Given the description of an element on the screen output the (x, y) to click on. 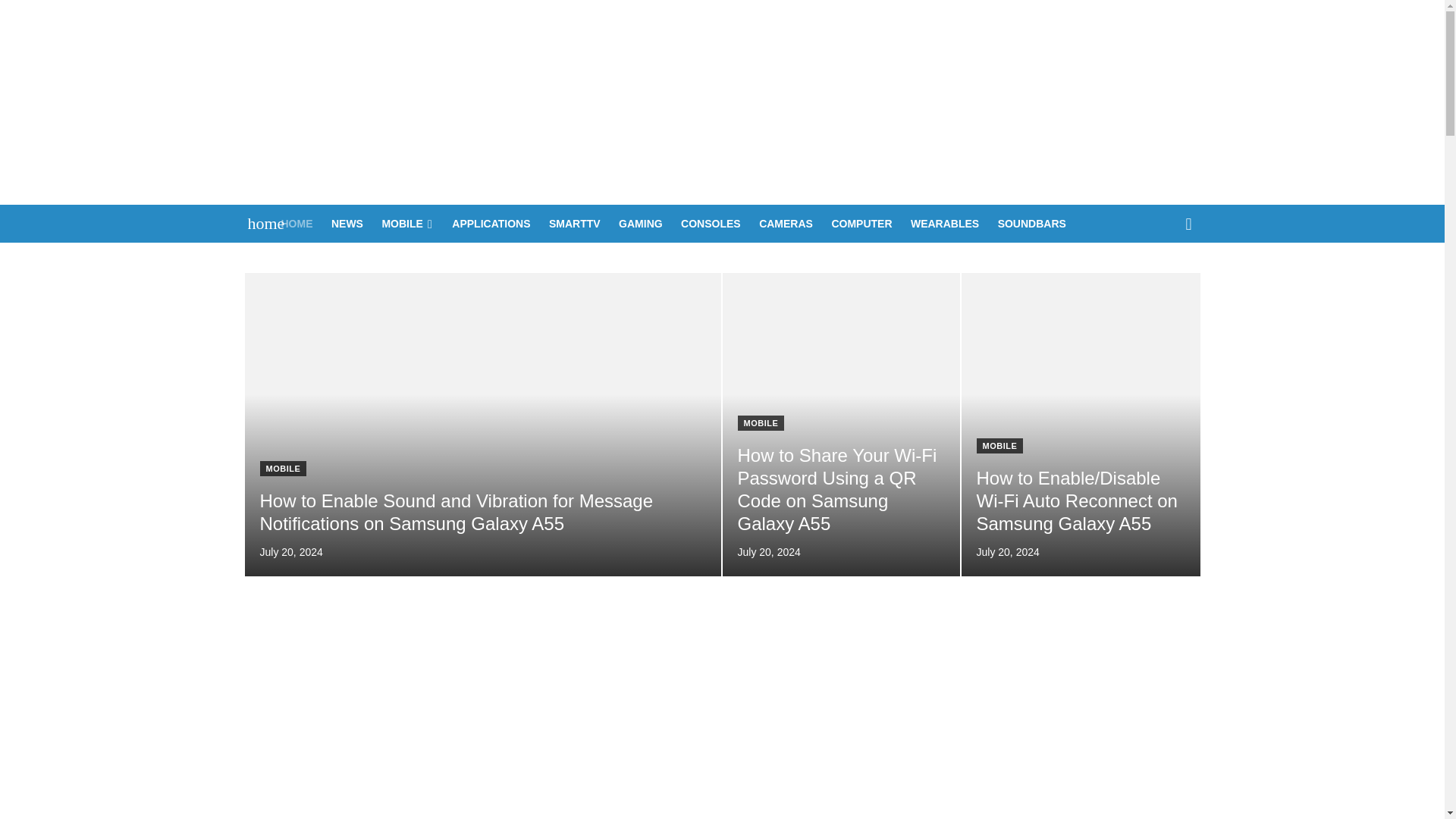
APPLICATIONS (490, 223)
GAMING (640, 223)
NEWS (347, 223)
July 20, 2024 (290, 551)
MOBILE (760, 422)
SMARTTV (575, 223)
CONSOLES (711, 223)
COMPUTER (861, 223)
SOUNDBARS (1031, 223)
home (258, 223)
HOME (296, 223)
CAMERAS (785, 223)
